Given the description of an element on the screen output the (x, y) to click on. 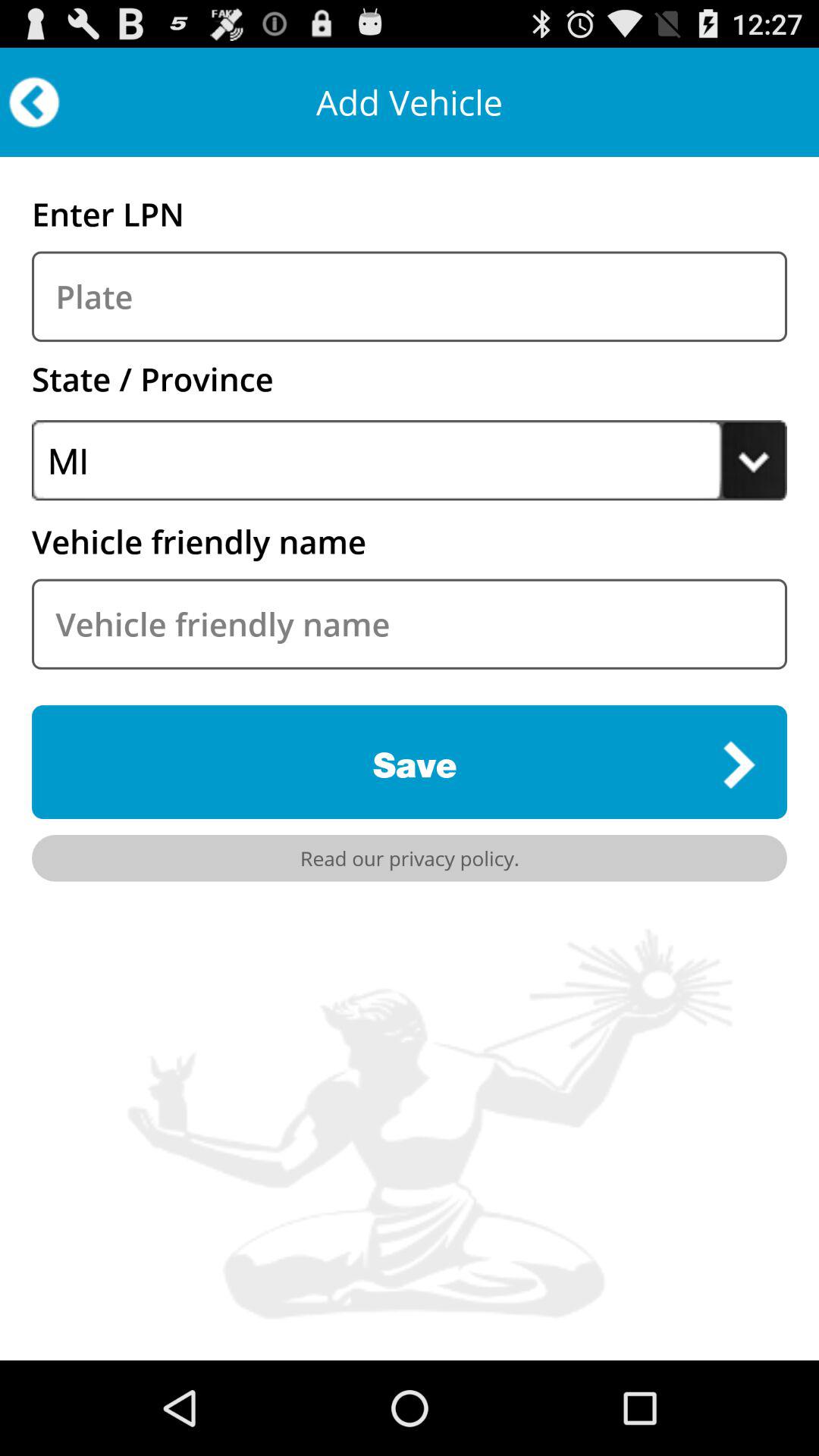
toggle friently name (409, 623)
